Given the description of an element on the screen output the (x, y) to click on. 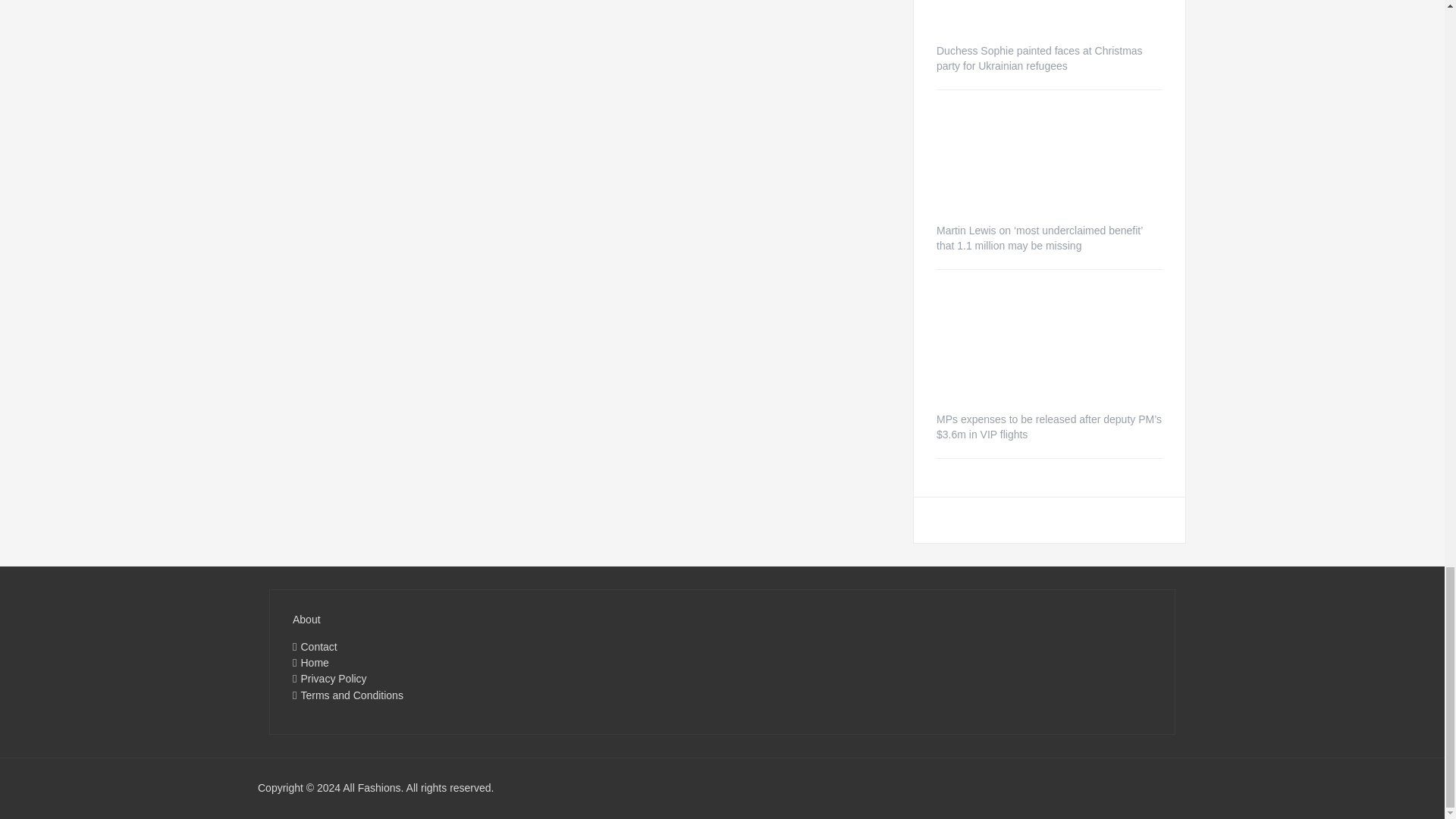
Home (314, 662)
Contact (317, 645)
